Given the description of an element on the screen output the (x, y) to click on. 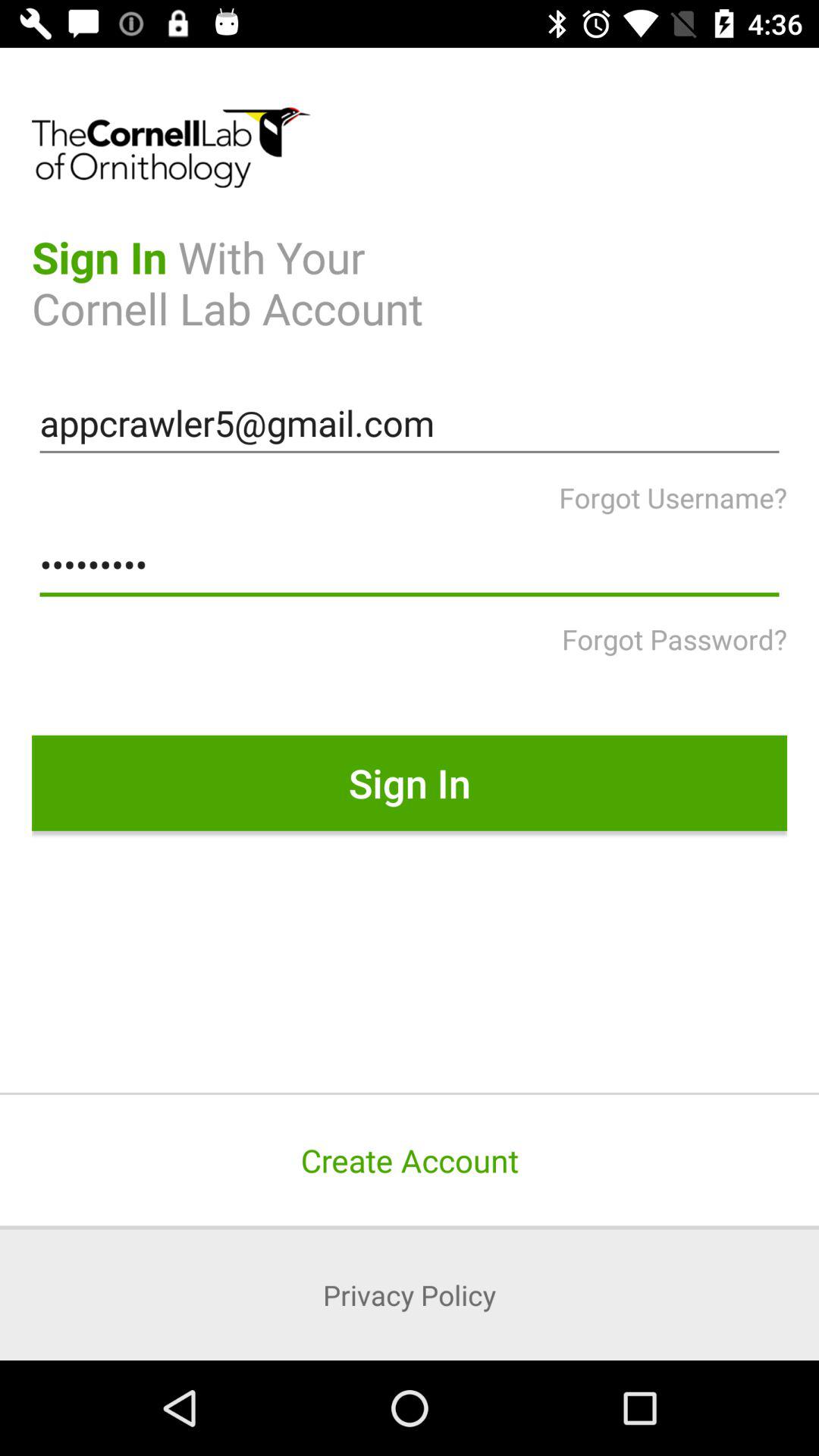
click the privacy policy icon (409, 1294)
